Given the description of an element on the screen output the (x, y) to click on. 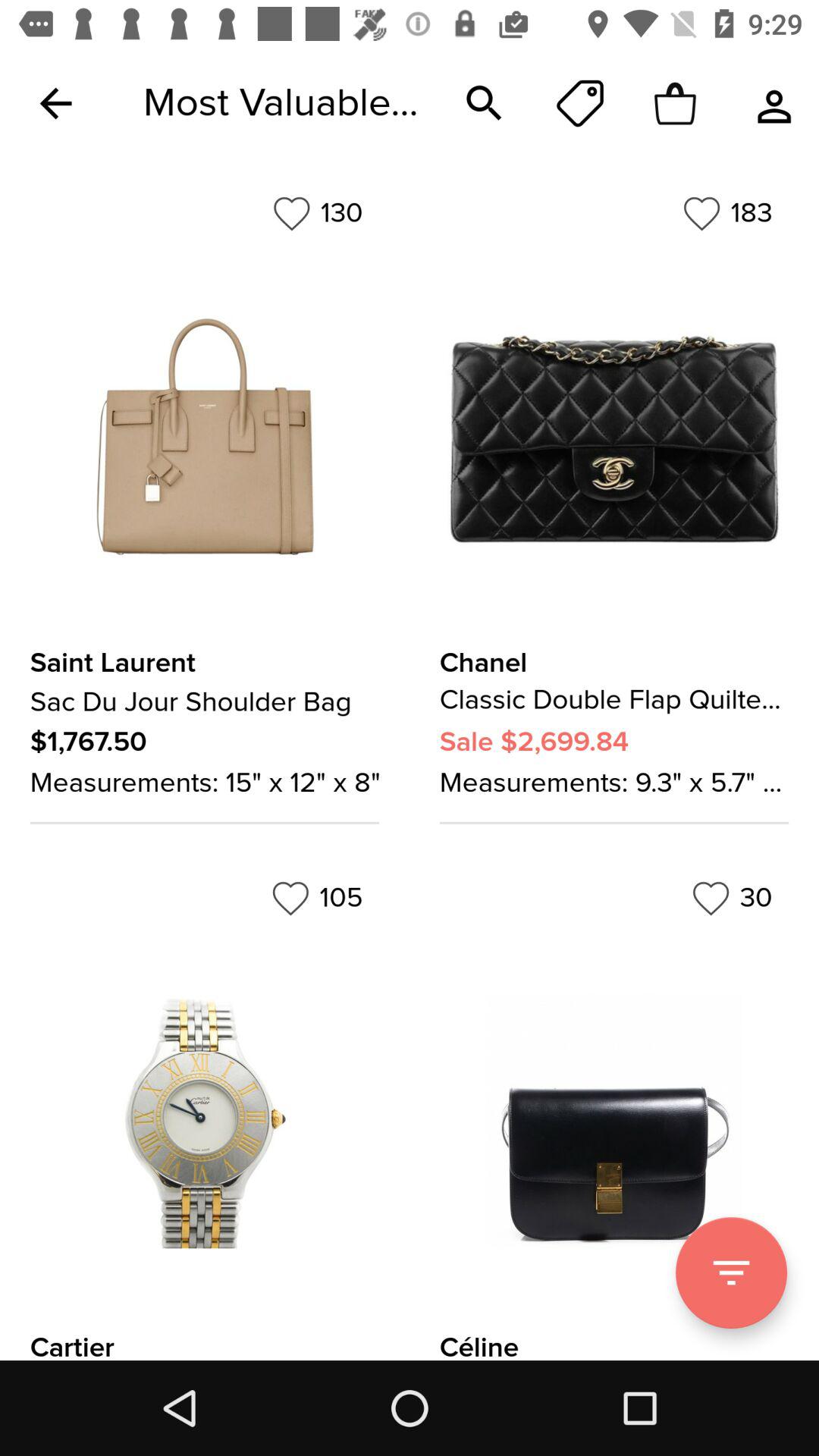
turn on 105 icon (317, 898)
